Given the description of an element on the screen output the (x, y) to click on. 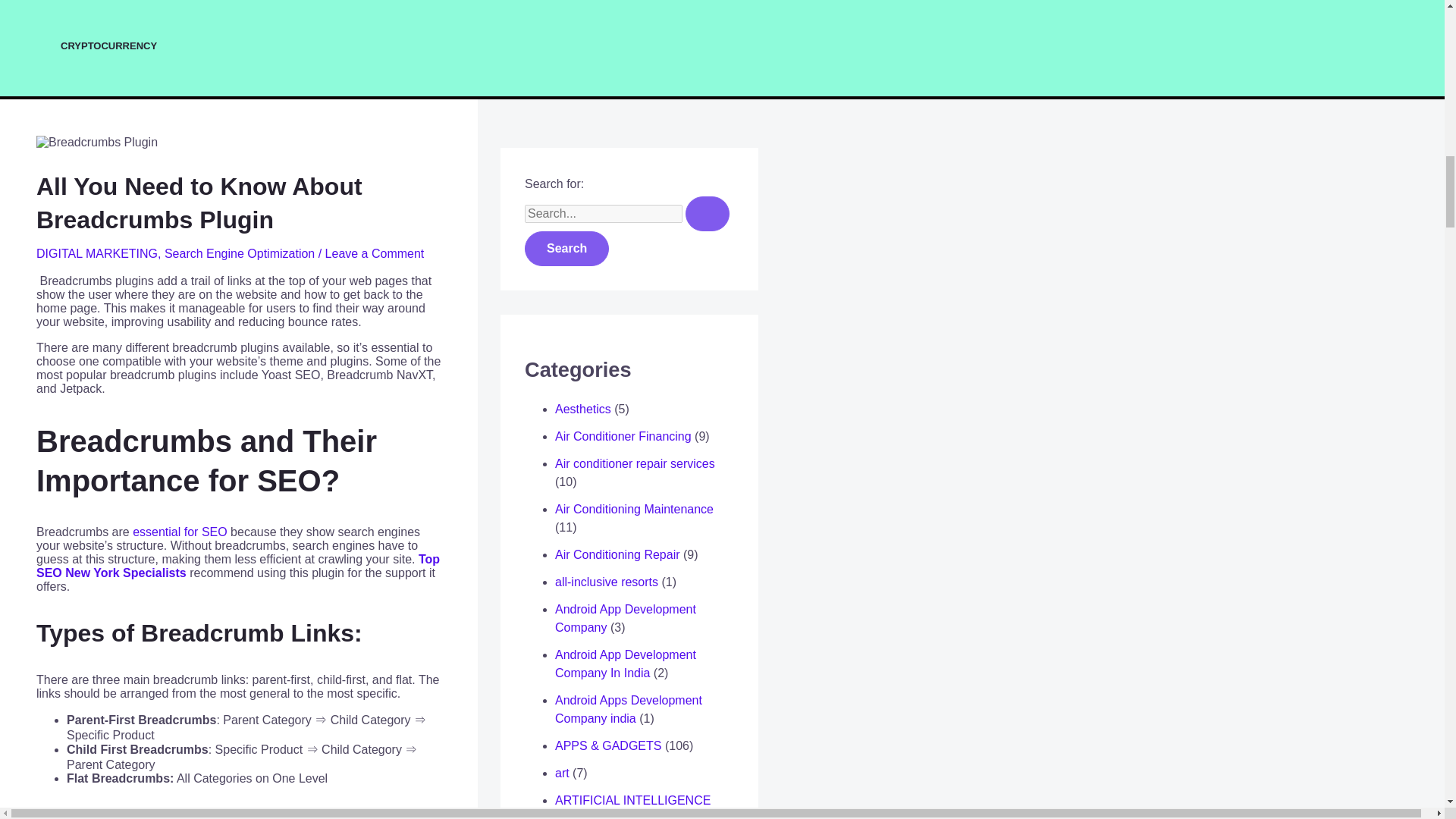
CRYPTOCURRENCY (341, 46)
Search (566, 248)
Search (566, 248)
TRAVEL (341, 4)
